Given the description of an element on the screen output the (x, y) to click on. 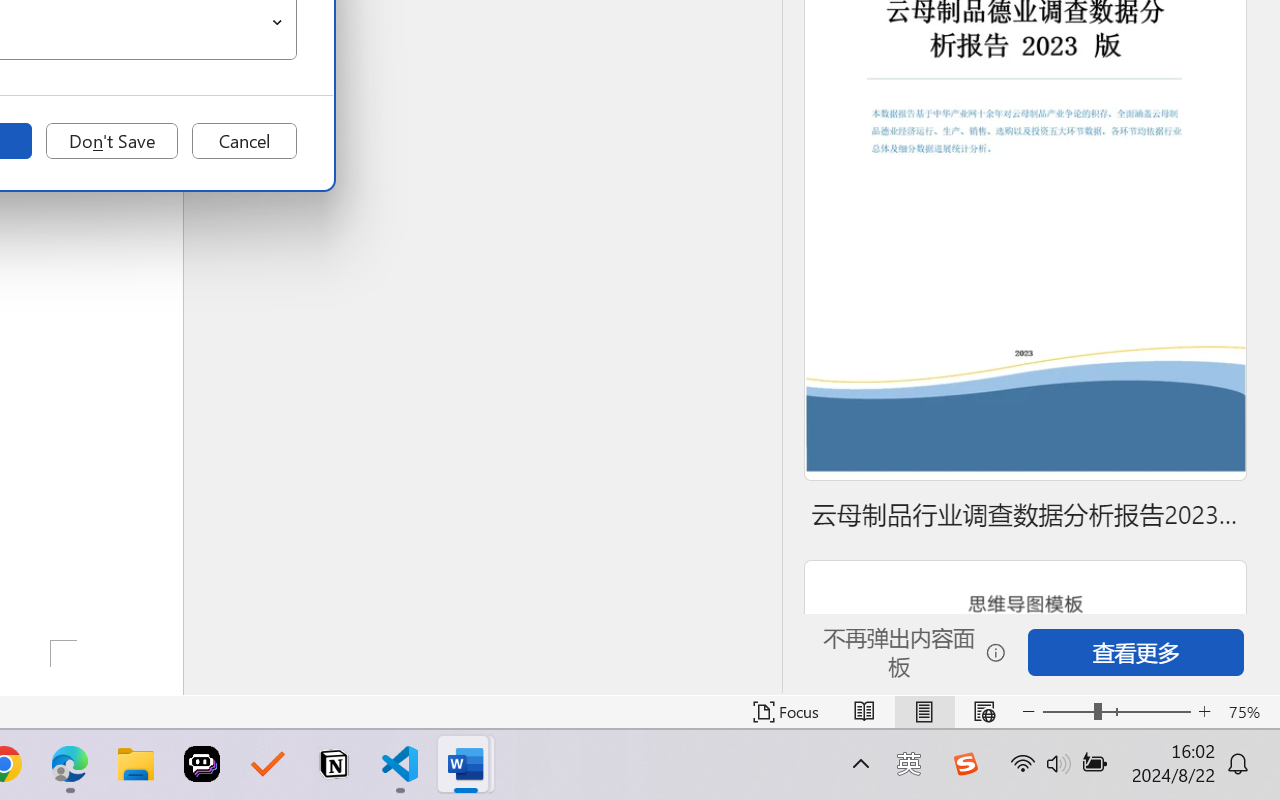
Class: Image (965, 764)
Focus  (786, 712)
Don't Save (111, 141)
Read Mode (864, 712)
Zoom (1116, 712)
